Given the description of an element on the screen output the (x, y) to click on. 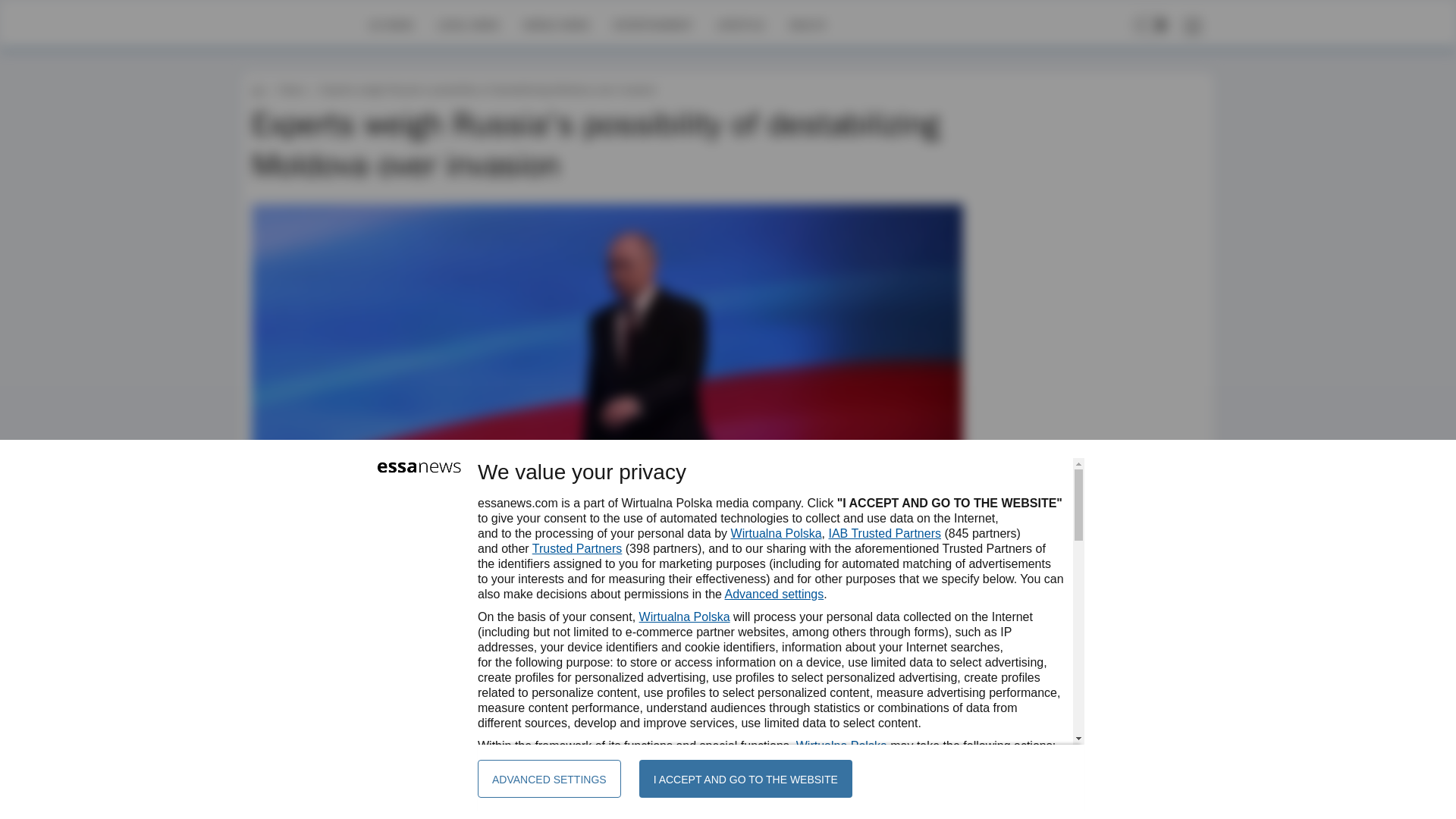
HEALTH (807, 24)
Homepage (305, 24)
RST (298, 641)
SHARE (936, 649)
essanews.com (257, 89)
LOCAL NEWS (468, 24)
ENTERTAINMENT (652, 24)
LIFESTYLE (740, 24)
RST (298, 641)
News (291, 89)
News (291, 89)
US NEWS (390, 24)
WORLD NEWS (555, 24)
